Given the description of an element on the screen output the (x, y) to click on. 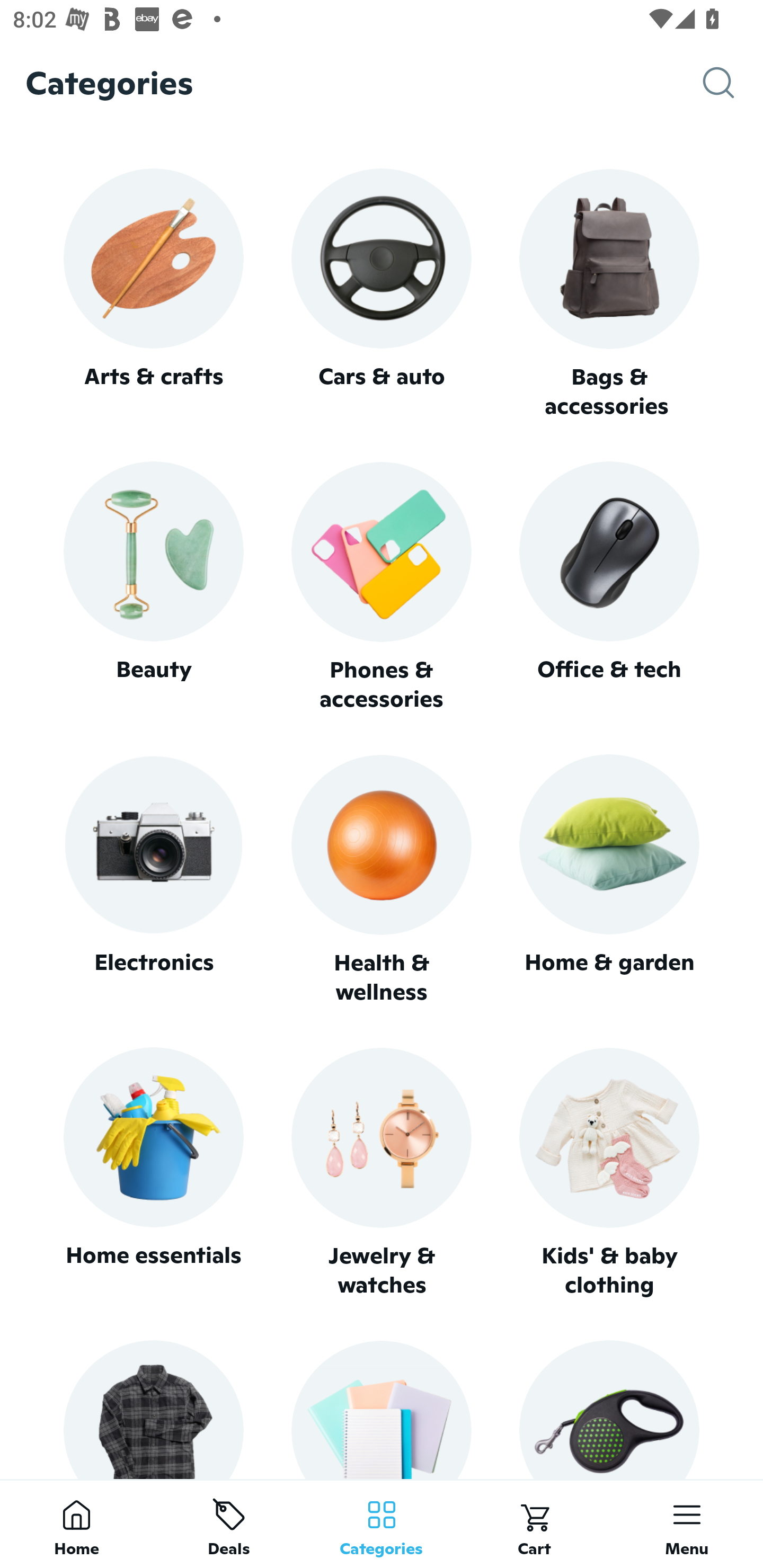
Search (732, 82)
Arts & crafts (153, 293)
Cars & auto (381, 293)
Bags & accessories  (609, 294)
Beauty (153, 586)
Office & tech (609, 586)
Phones & accessories (381, 587)
Electronics (153, 880)
Home & garden (609, 880)
Health & wellness (381, 880)
Home essentials (153, 1172)
Jewelry & watches (381, 1172)
Kids' & baby clothing (609, 1172)
Men's clothing (153, 1409)
Pet supplies (609, 1409)
Office & school supplies (381, 1409)
Home (76, 1523)
Deals (228, 1523)
Categories (381, 1523)
Cart (533, 1523)
Menu (686, 1523)
